Given the description of an element on the screen output the (x, y) to click on. 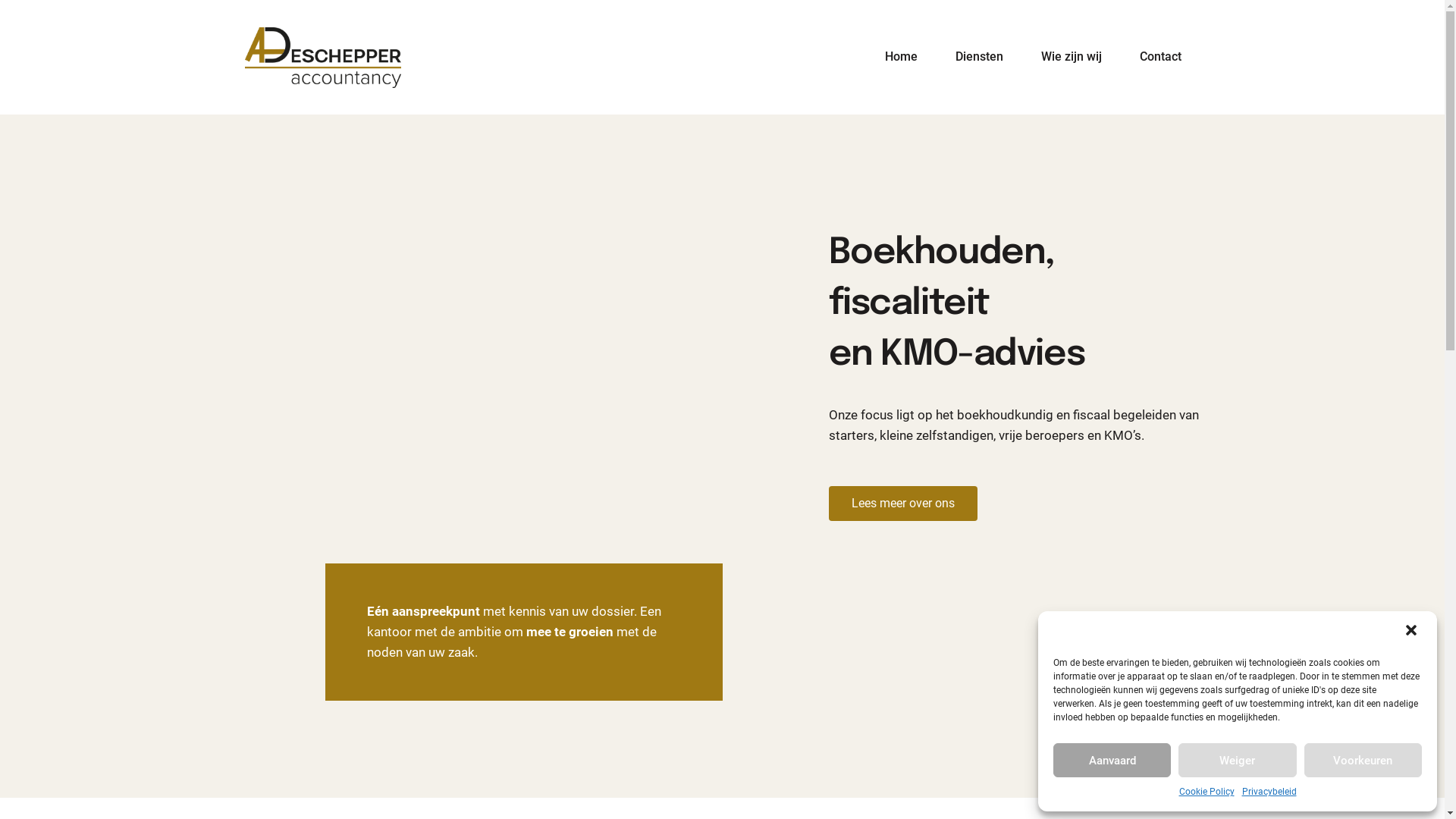
Wie zijn wij Element type: text (1071, 57)
Home Element type: text (901, 57)
Voorkeuren Element type: text (1362, 760)
Privacybeleid Element type: text (1269, 792)
Aanvaard Element type: text (1111, 760)
Diensten Element type: text (979, 57)
Lees meer over ons Element type: text (902, 503)
Contact Element type: text (1160, 57)
Cookie Policy Element type: text (1205, 792)
Weiger Element type: text (1236, 760)
